Given the description of an element on the screen output the (x, y) to click on. 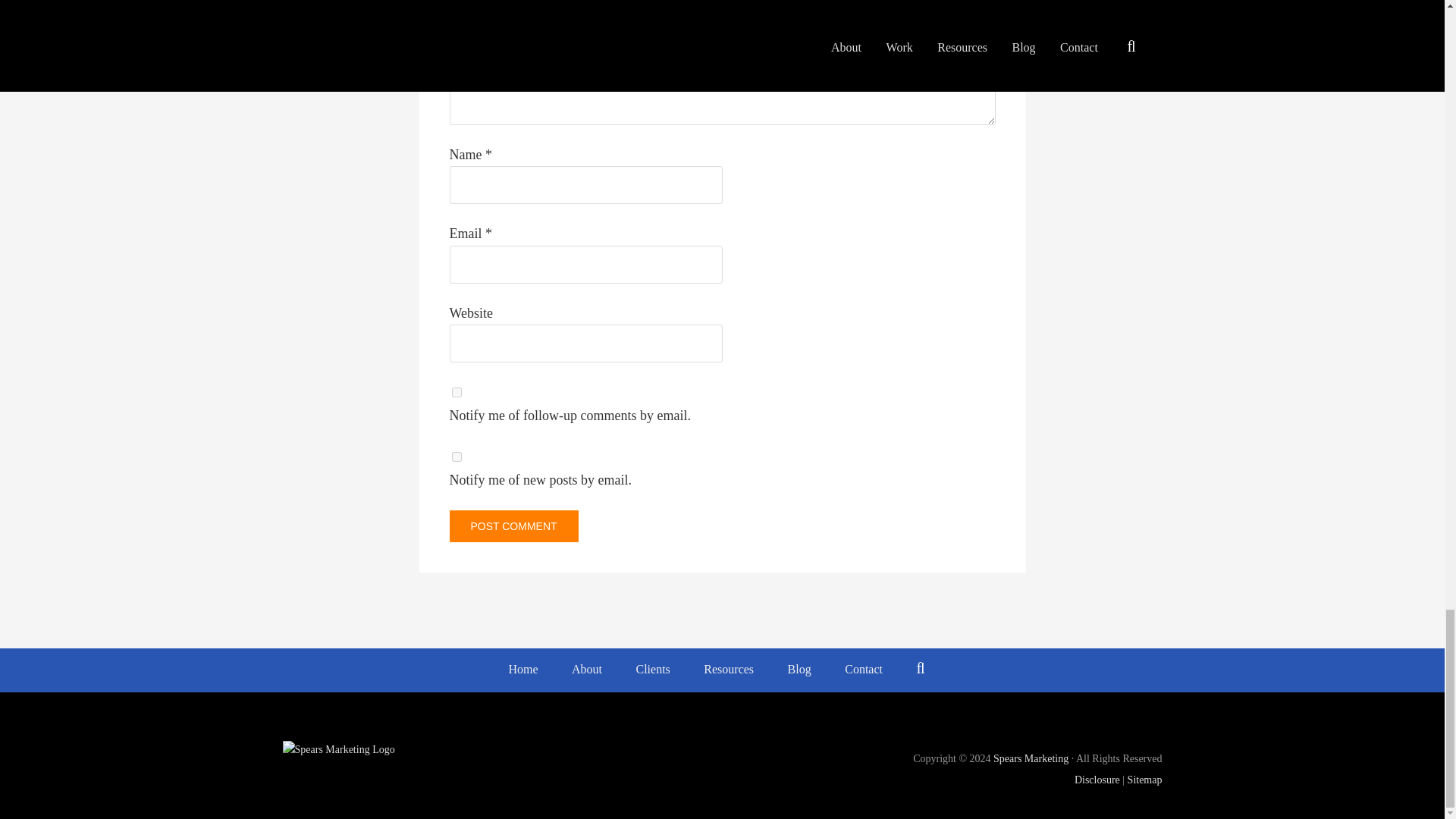
Post Comment (513, 526)
Spears Marketing (496, 750)
Resources (728, 670)
About (586, 670)
subscribe (456, 456)
Blog (800, 670)
Home (523, 670)
Spears Marketing (1030, 758)
Post Comment (513, 526)
